Given the description of an element on the screen output the (x, y) to click on. 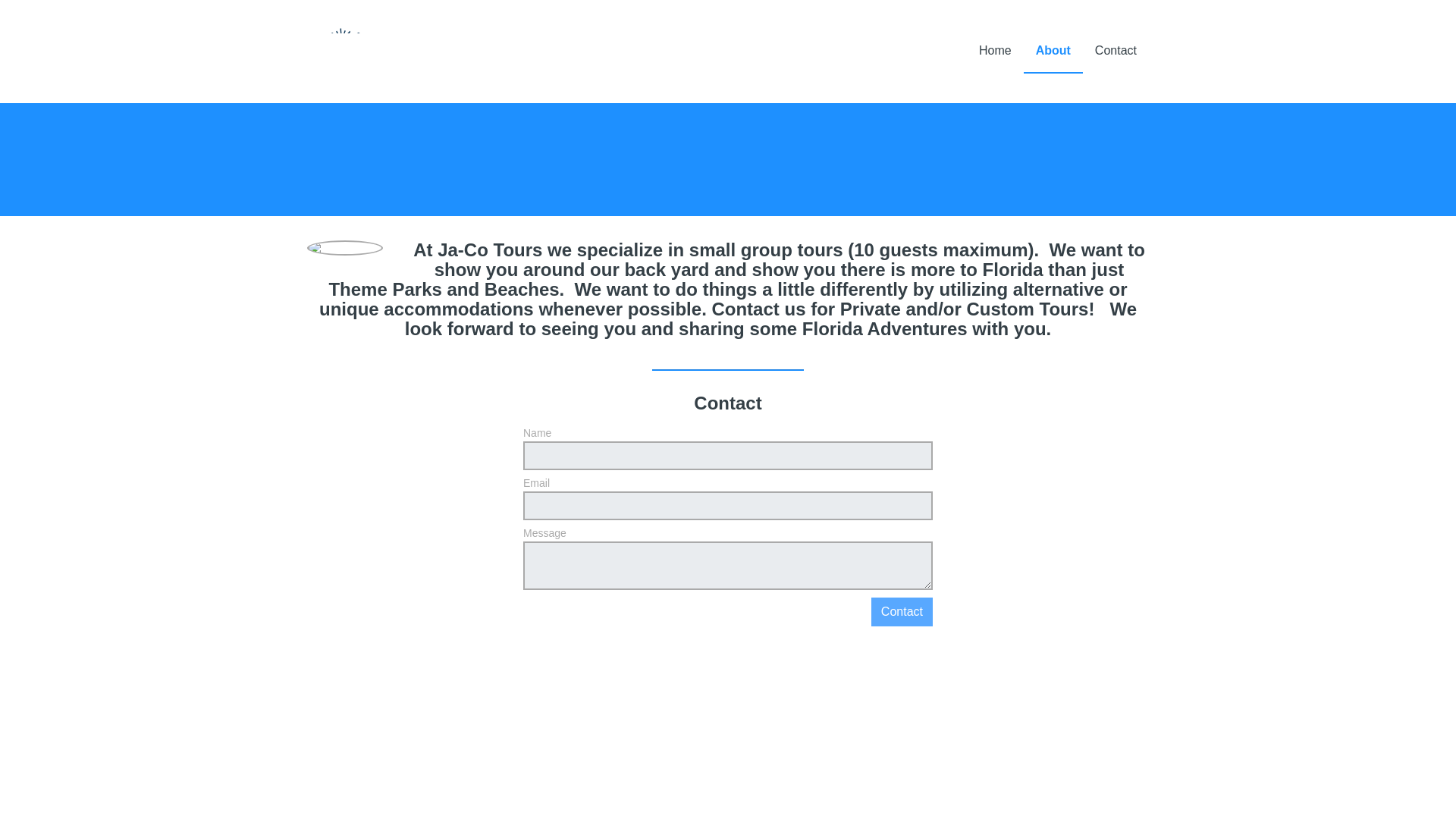
Contact (901, 611)
Contact (901, 611)
Contact (1115, 50)
Home (994, 50)
About (1053, 50)
